Given the description of an element on the screen output the (x, y) to click on. 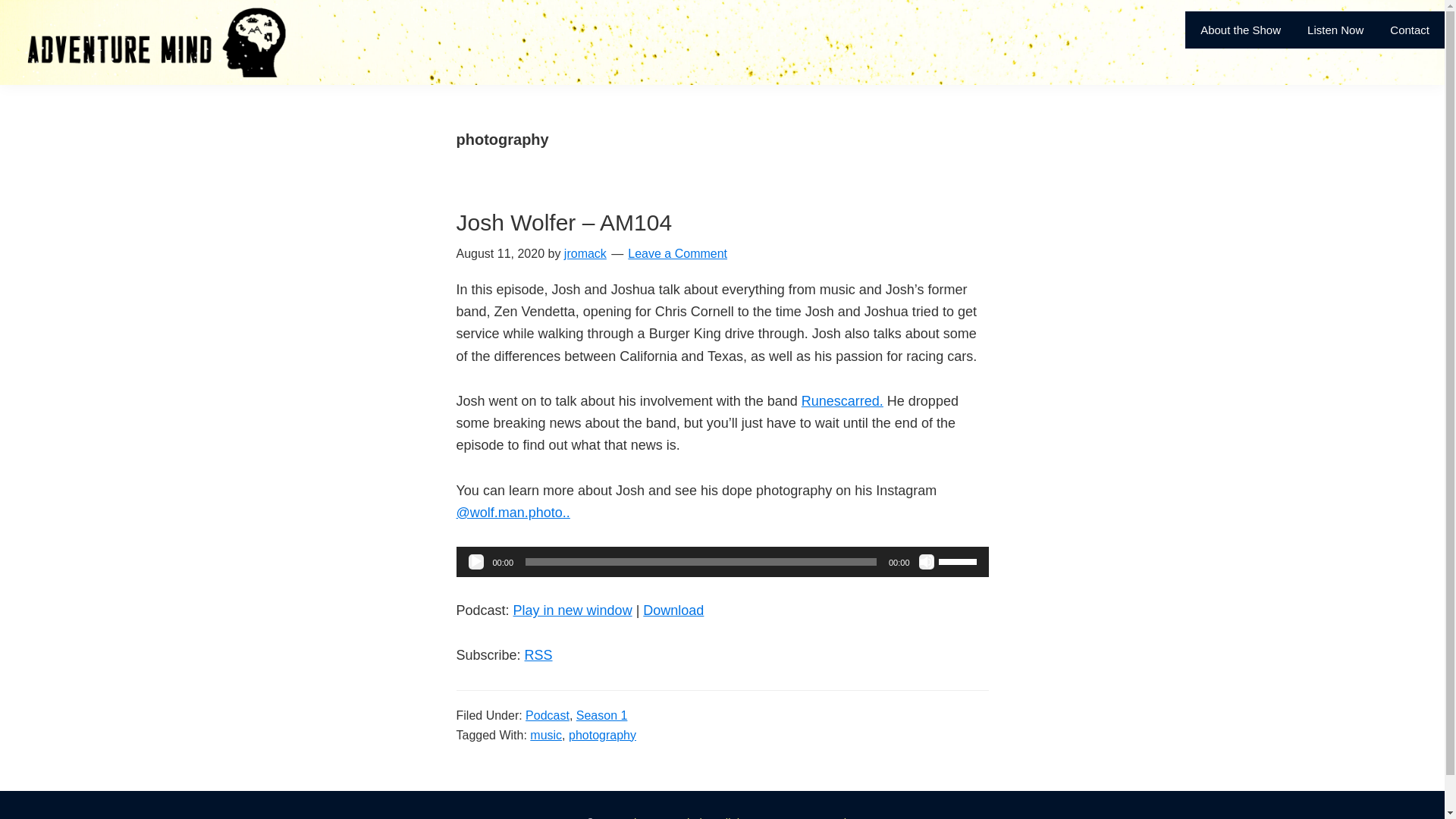
Mute (926, 561)
Subscribe via RSS (538, 654)
photography (602, 735)
About the Show (1240, 30)
Podcast (547, 715)
Adventure Mind (662, 817)
Download (673, 610)
Built by Hero House Creative (784, 817)
Listen Now (1334, 30)
Season 1 (601, 715)
Contact (1409, 30)
RSS (538, 654)
Play (475, 561)
Play in new window (572, 610)
